Given the description of an element on the screen output the (x, y) to click on. 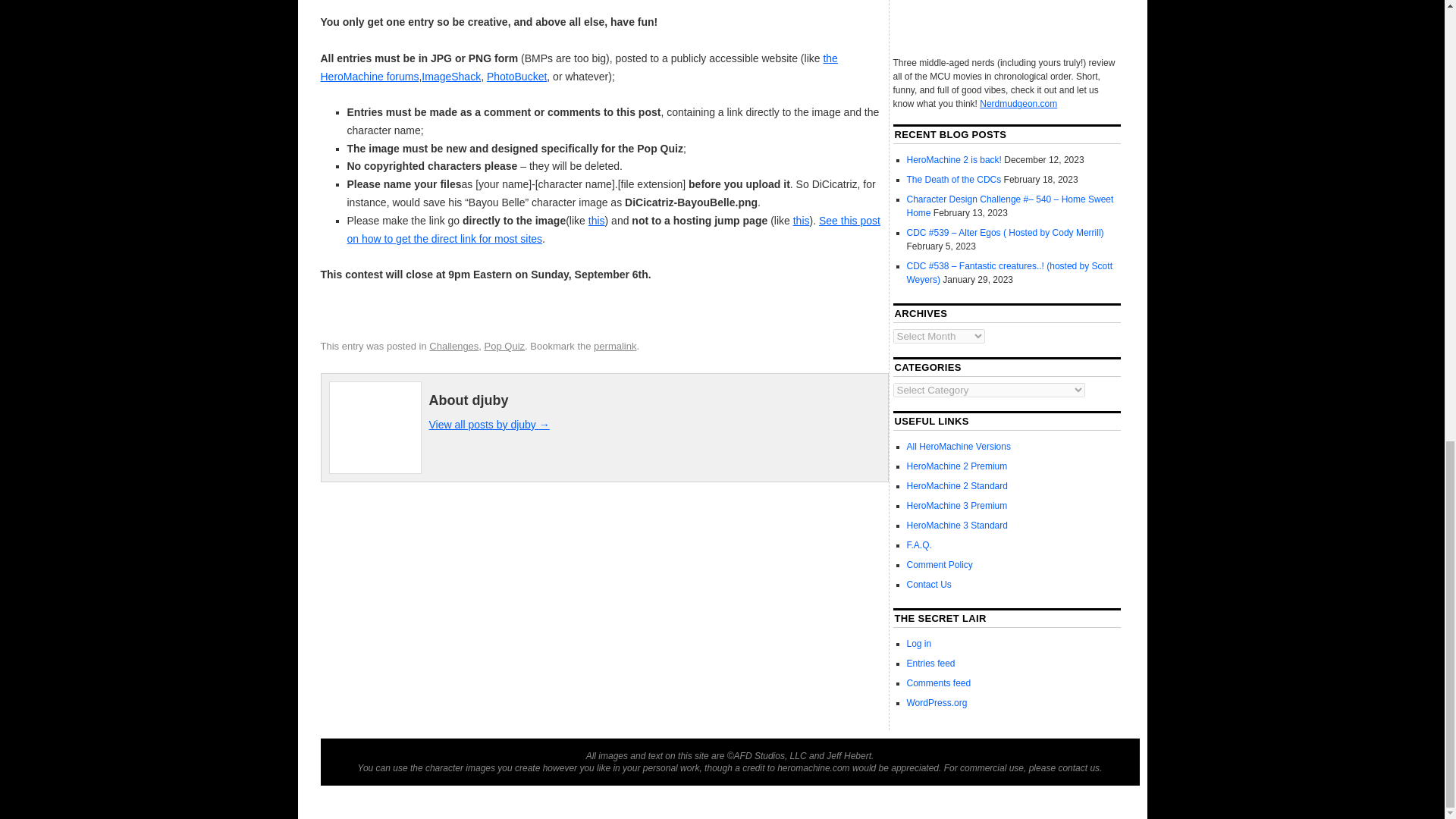
PhotoBucket (516, 75)
The Death of the CDCs (954, 179)
this (801, 220)
HeroMachine 2 is back! (954, 159)
Pop Quiz (504, 346)
Nerdmudgeon.com (1018, 103)
Challenges (454, 346)
permalink (615, 346)
the HeroMachine forums (578, 67)
this (596, 220)
